Given the description of an element on the screen output the (x, y) to click on. 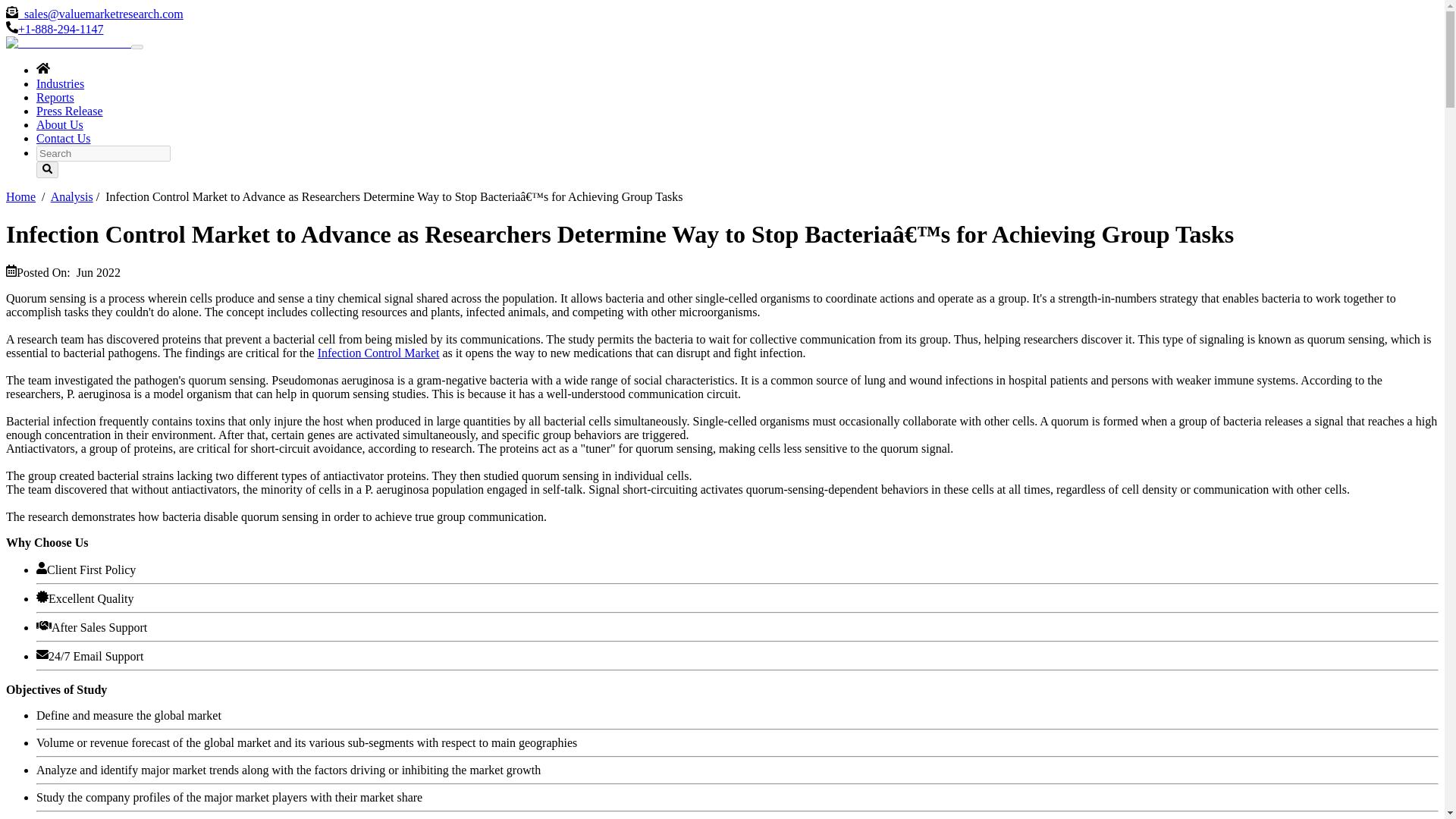
About Us (59, 124)
Home (19, 196)
Industries (60, 83)
Press Release (69, 110)
Reports (55, 97)
Contact Us (63, 137)
Infection Control Market (378, 352)
Analysis (71, 196)
